Given the description of an element on the screen output the (x, y) to click on. 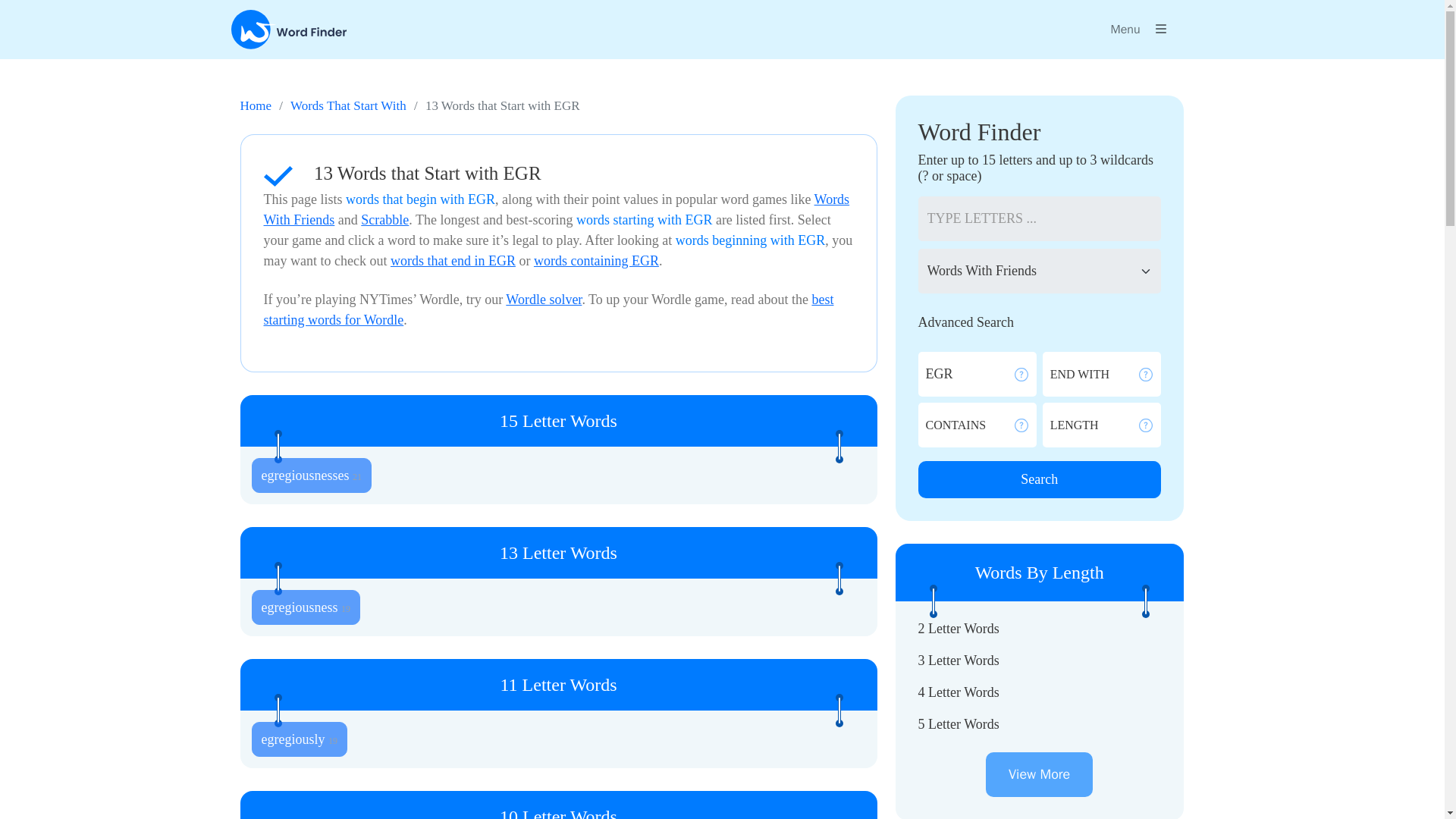
Menu (1137, 29)
Words That Start With (347, 105)
Words With Friends (556, 209)
Home (255, 105)
egr (968, 374)
